Given the description of an element on the screen output the (x, y) to click on. 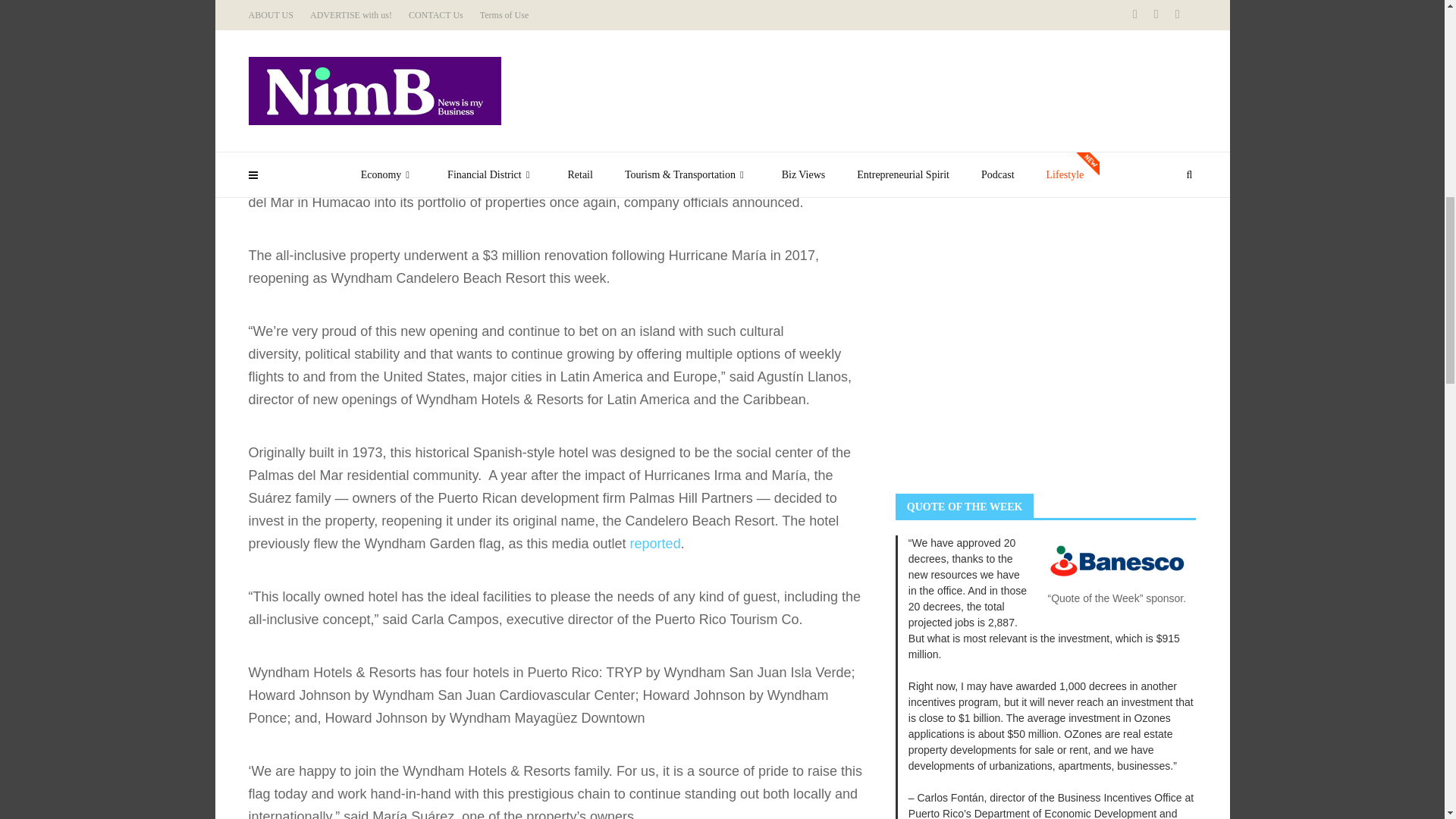
3rd party ad content (1008, 22)
3rd party ad content (1008, 163)
3rd party ad content (1008, 375)
